Given the description of an element on the screen output the (x, y) to click on. 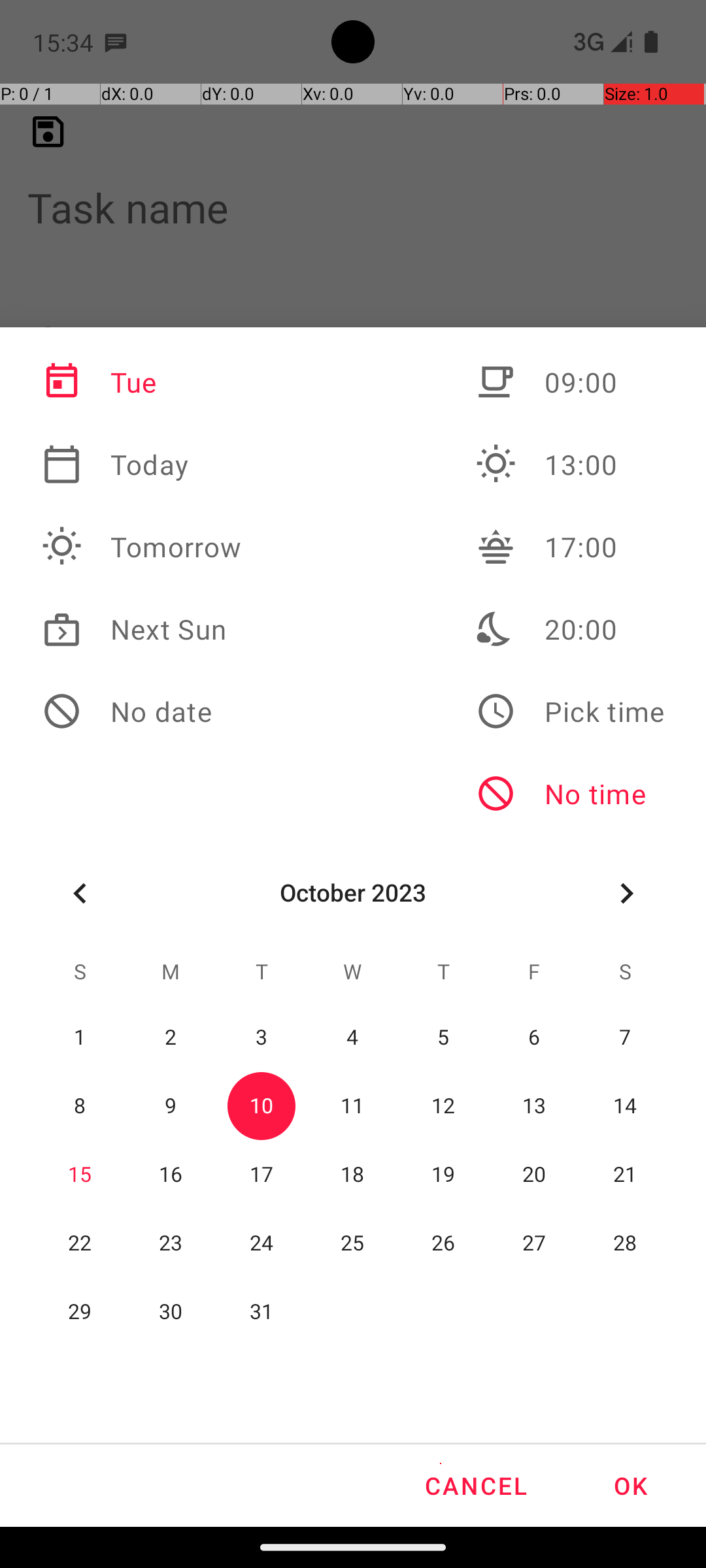
Tue Element type: android.widget.CompoundButton (141, 382)
Today Element type: android.widget.CompoundButton (141, 464)
Tomorrow Element type: android.widget.CompoundButton (141, 546)
Next Sun Element type: android.widget.CompoundButton (141, 629)
No date Element type: android.widget.CompoundButton (141, 711)
13:00 Element type: android.widget.CompoundButton (569, 464)
17:00 Element type: android.widget.CompoundButton (569, 546)
20:00 Element type: android.widget.CompoundButton (569, 629)
No time Element type: android.widget.CompoundButton (569, 793)
